Given the description of an element on the screen output the (x, y) to click on. 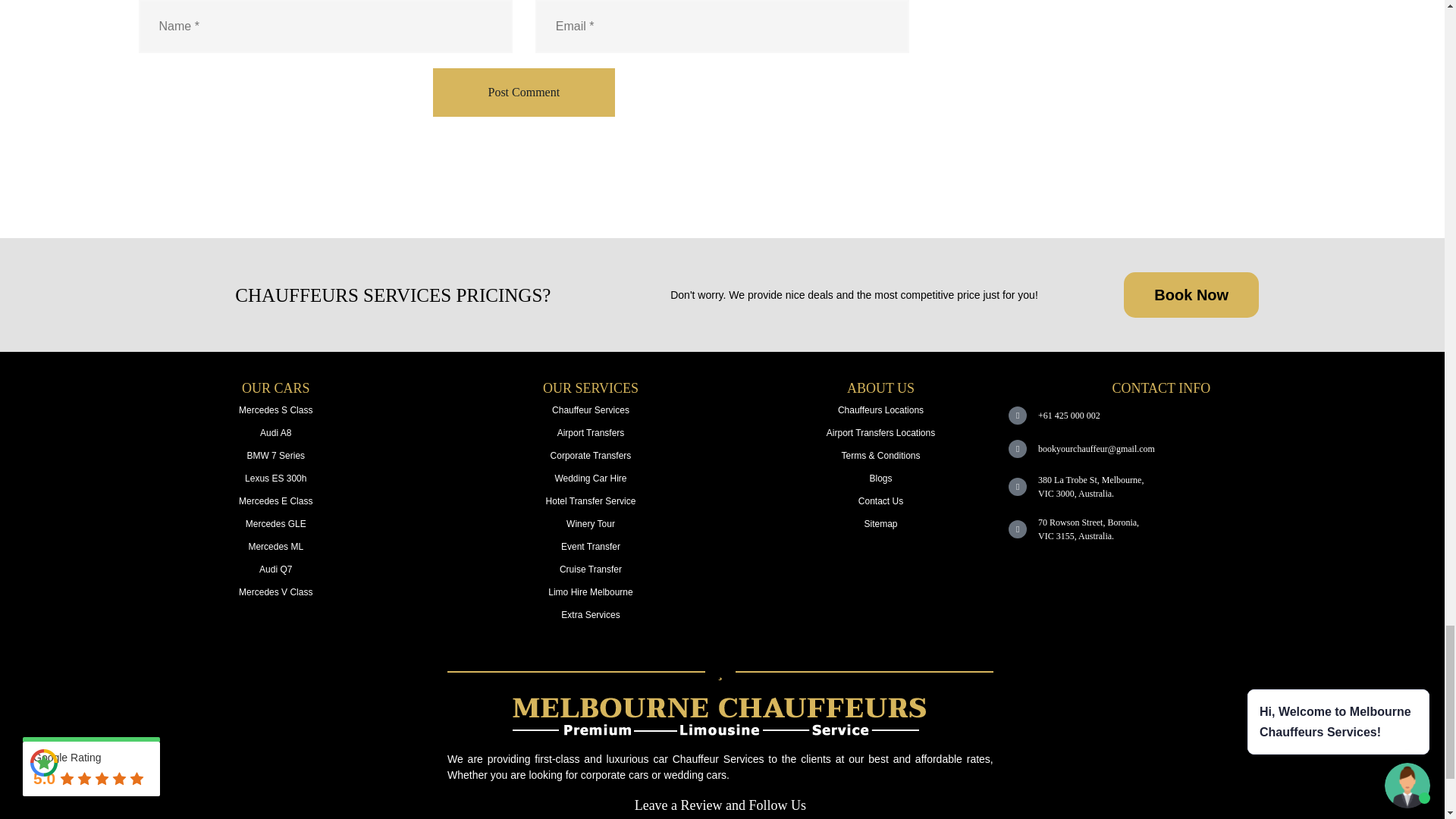
Post Comment (523, 92)
